Given the description of an element on the screen output the (x, y) to click on. 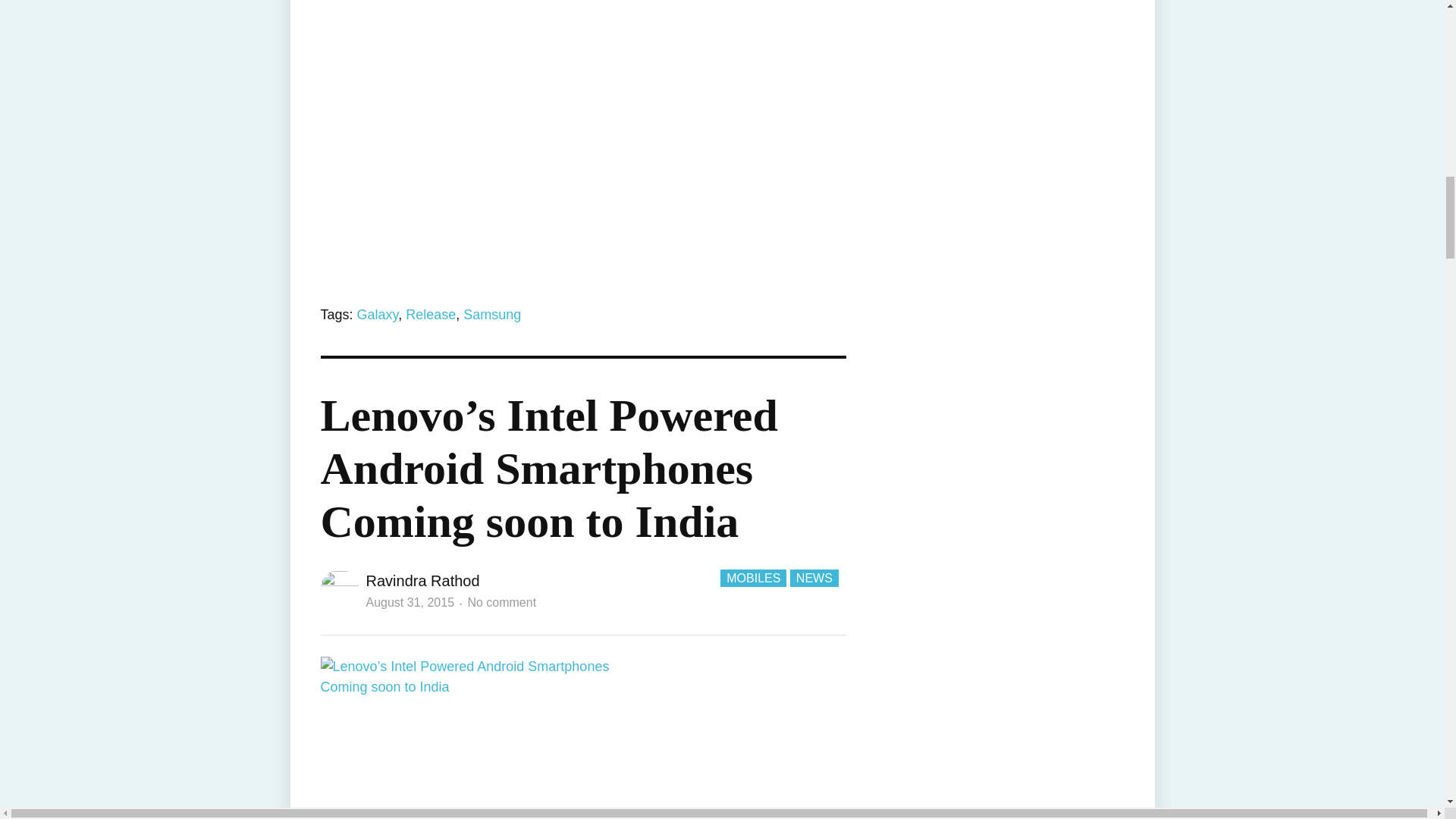
Samsung (492, 314)
Galaxy (377, 314)
NEWS (814, 578)
August 31, 2015 (409, 602)
MOBILES (753, 578)
Release (430, 314)
Ravindra Rathod (422, 580)
